Given the description of an element on the screen output the (x, y) to click on. 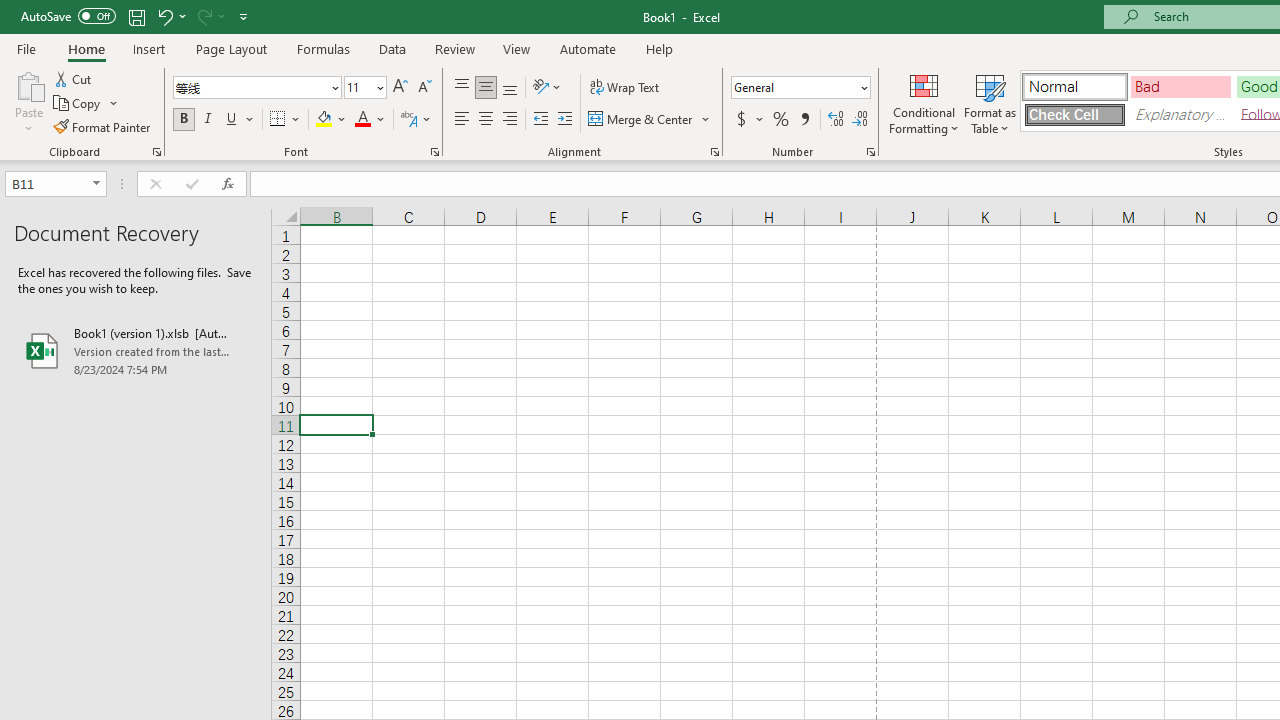
Show Phonetic Field (416, 119)
Decrease Font Size (424, 87)
Bold (183, 119)
Borders (285, 119)
Font Color (370, 119)
Font Size (358, 87)
Bottom Align (509, 87)
Conditional Formatting (924, 102)
Copy (78, 103)
Merge & Center (649, 119)
Bottom Border (278, 119)
